Given the description of an element on the screen output the (x, y) to click on. 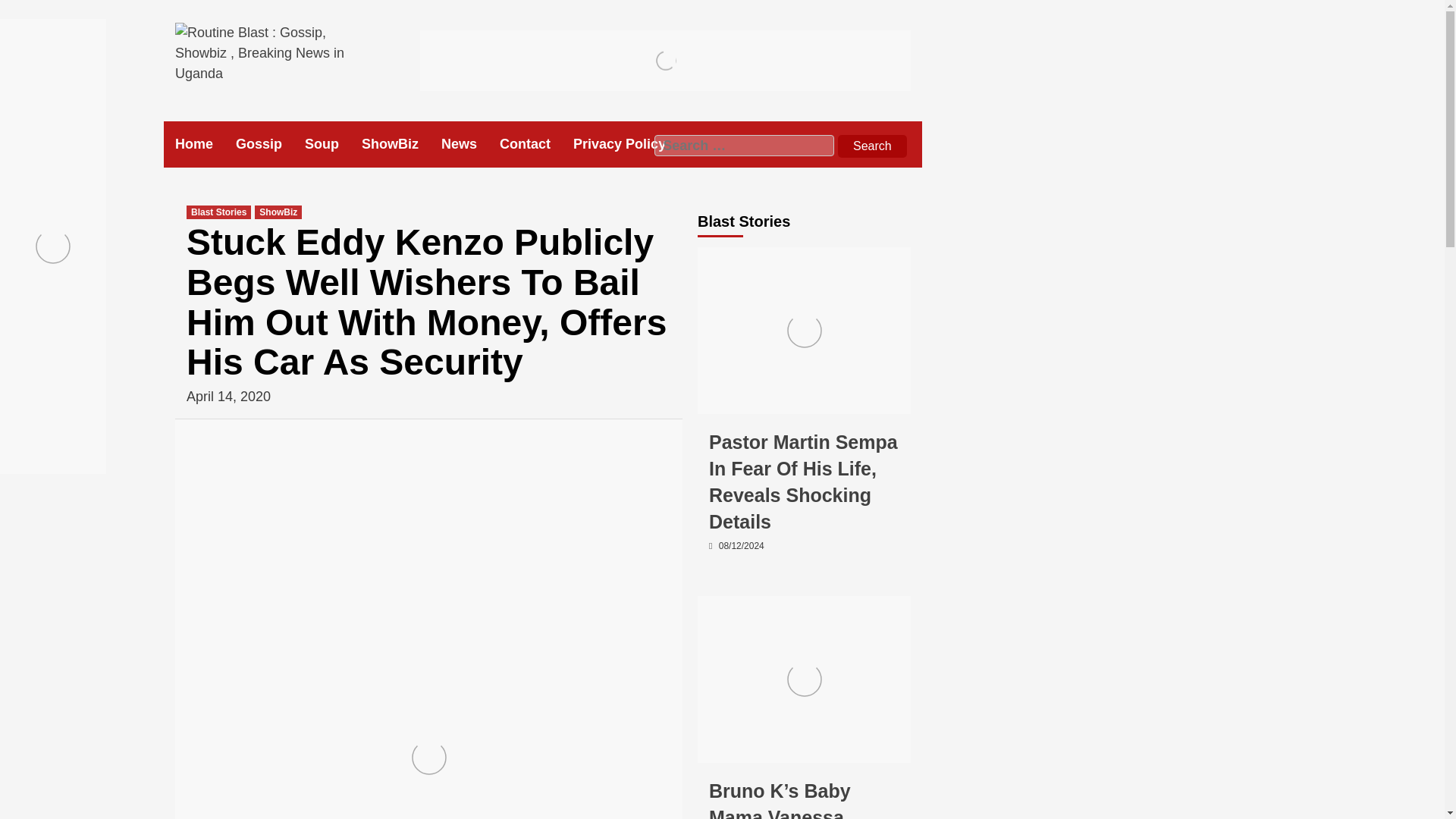
ShowBiz (401, 144)
Gossip (724, 399)
Search (872, 146)
ShowBiz (772, 748)
Contact (536, 144)
Blast Stories (218, 212)
Search (872, 146)
Gossip (724, 748)
Home (204, 144)
